Given the description of an element on the screen output the (x, y) to click on. 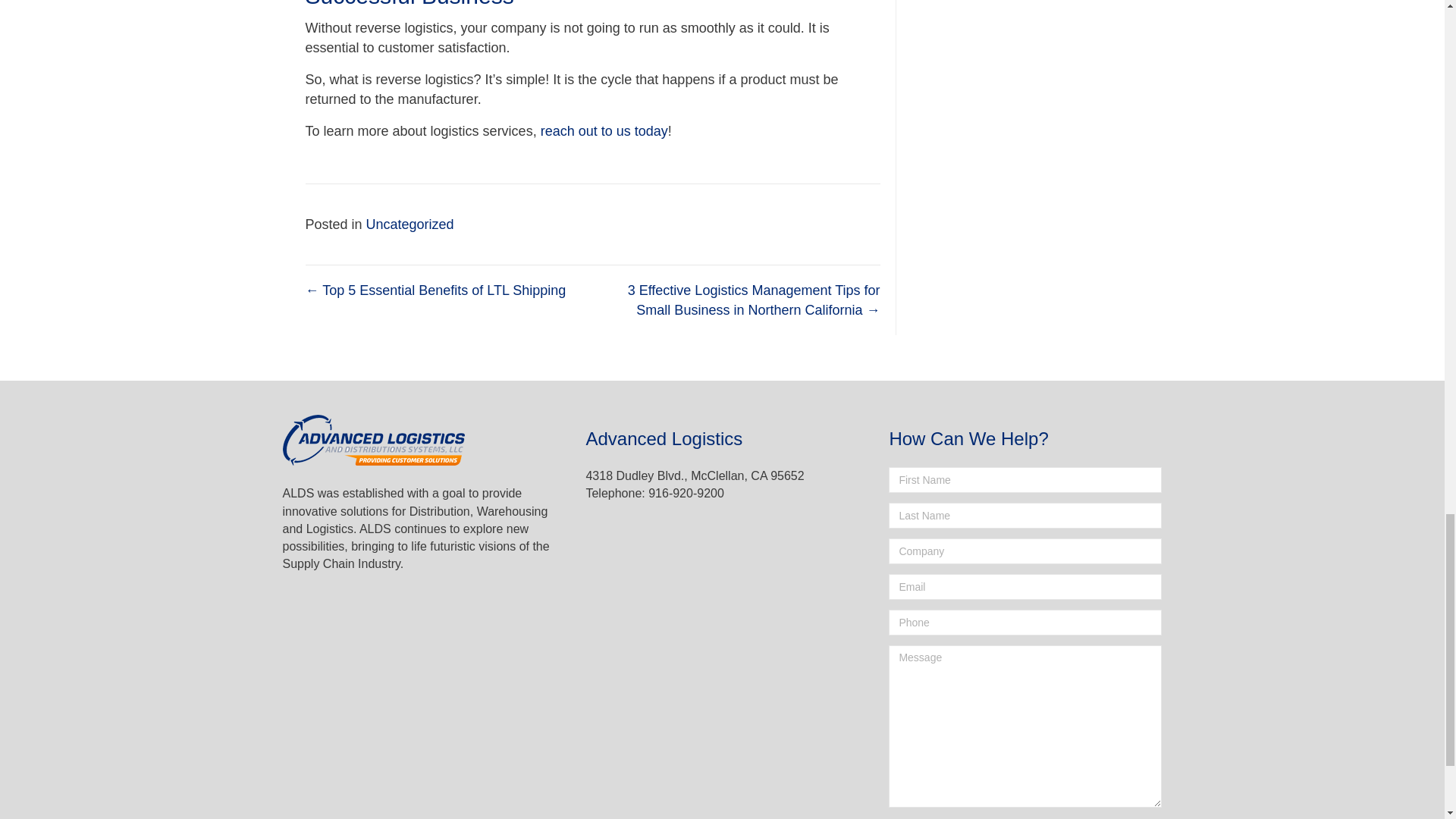
Uncategorized (410, 224)
reach out to us today (604, 130)
ADVLOG2 (373, 440)
